Given the description of an element on the screen output the (x, y) to click on. 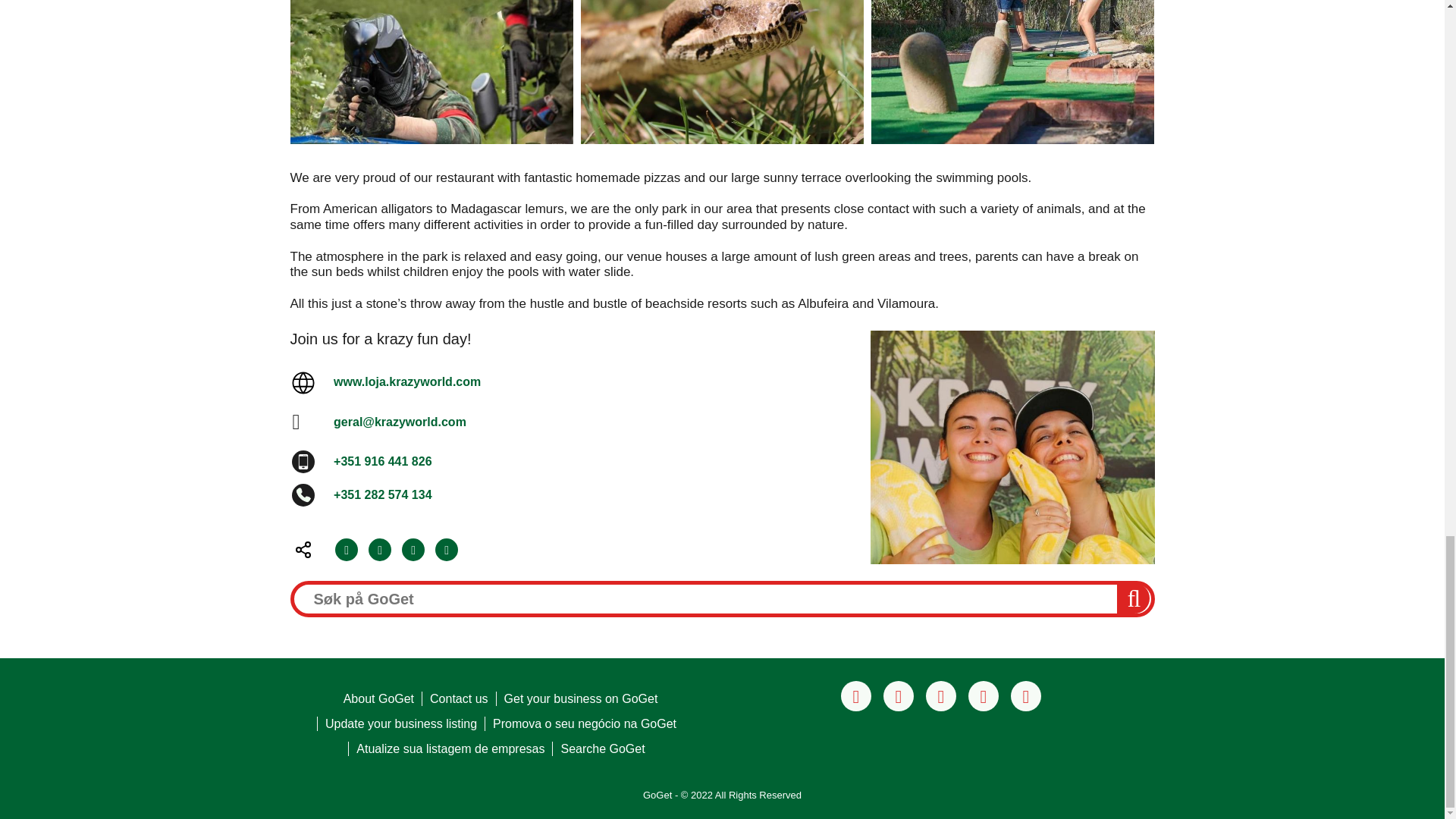
Atualize sua listagem de empresas (450, 748)
Facebook (855, 695)
Twitter (379, 549)
Youtube (1025, 695)
Get your business on GoGet (581, 698)
About GoGet (378, 698)
Searche GoGet (601, 748)
Update your business listing (400, 723)
Pinterest (941, 695)
Twitter (983, 695)
